Given the description of an element on the screen output the (x, y) to click on. 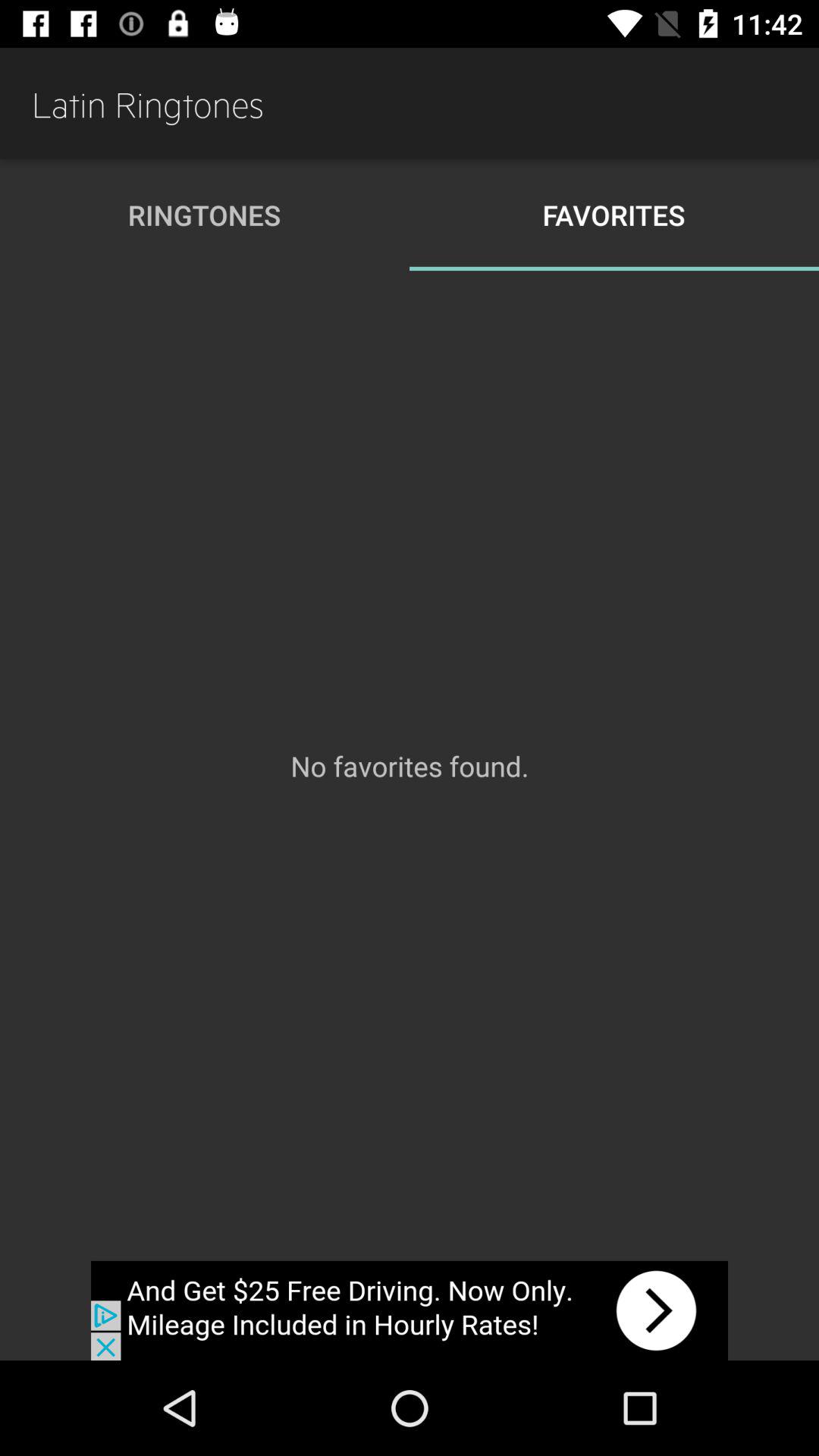
opens advertisement (409, 1310)
